Given the description of an element on the screen output the (x, y) to click on. 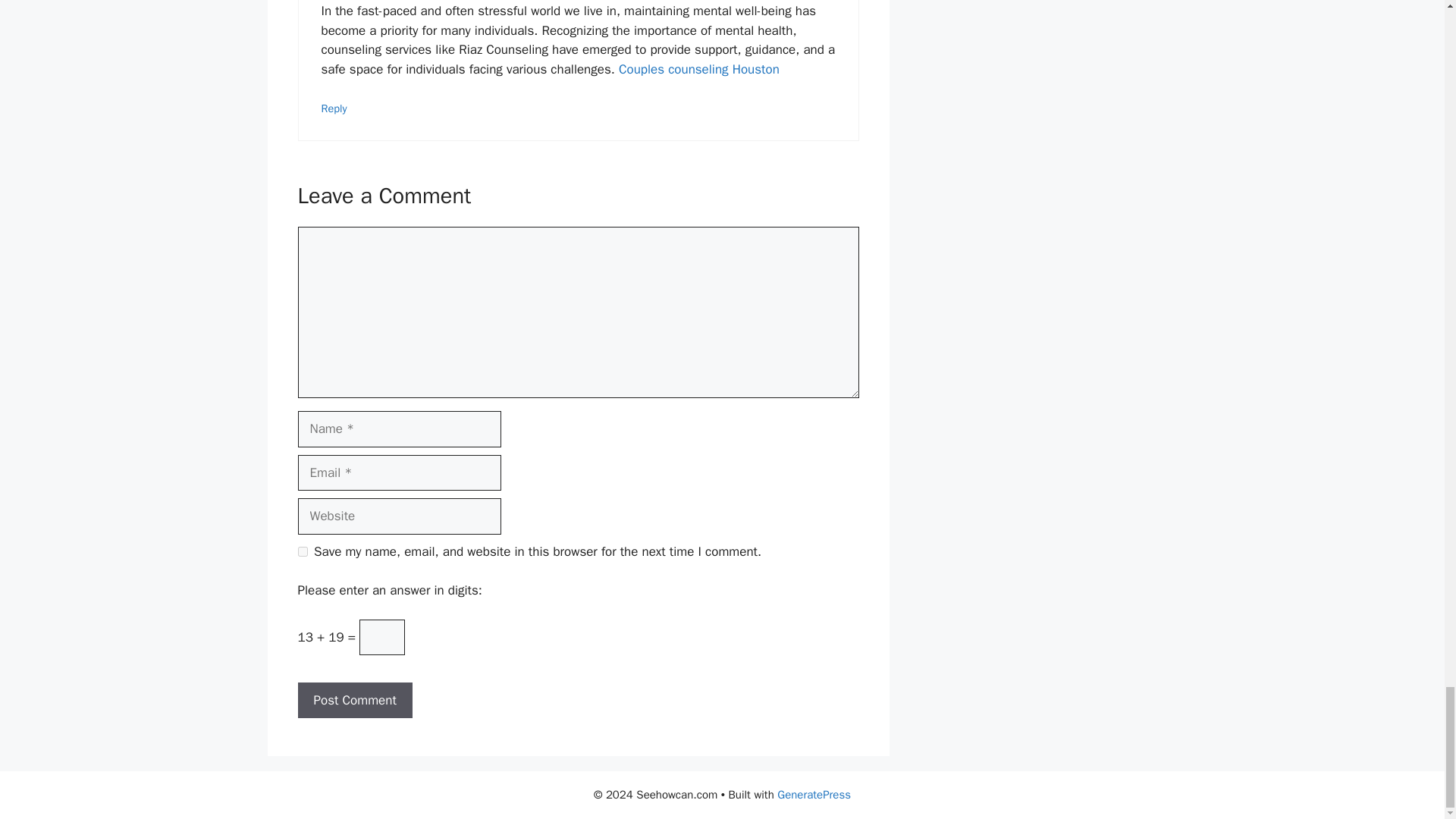
yes (302, 551)
Post Comment (354, 700)
